Given the description of an element on the screen output the (x, y) to click on. 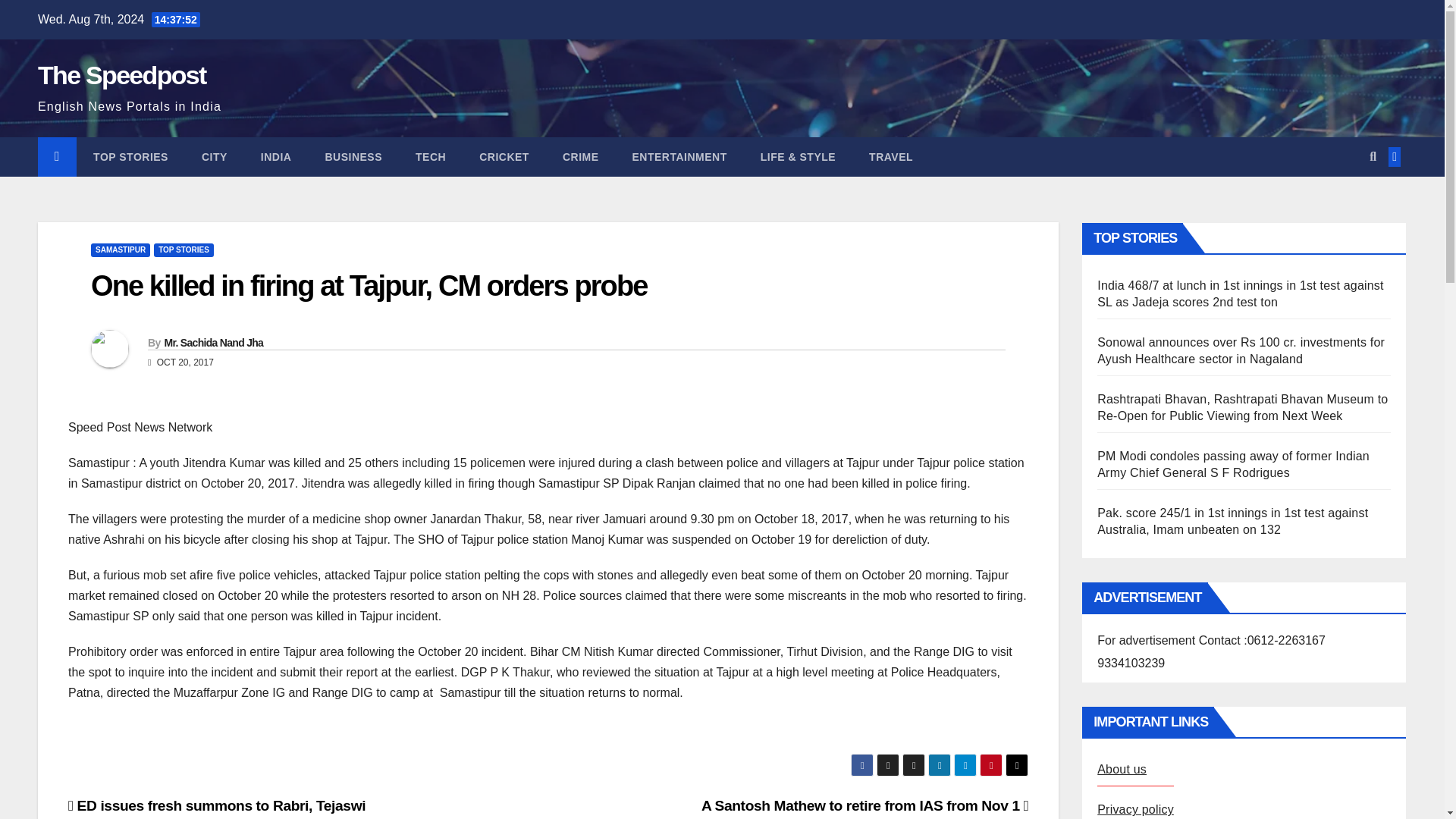
Business (352, 156)
TRAVEL (890, 156)
Mr. Sachida Nand Jha (213, 342)
Travel (890, 156)
TECH (430, 156)
Cricket (504, 156)
One killed in firing at Tajpur, CM orders probe (368, 286)
City (214, 156)
Crime (580, 156)
India (276, 156)
CRIME (580, 156)
CRICKET (504, 156)
BUSINESS (352, 156)
TOP STORIES (130, 156)
SAMASTIPUR (119, 250)
